Given the description of an element on the screen output the (x, y) to click on. 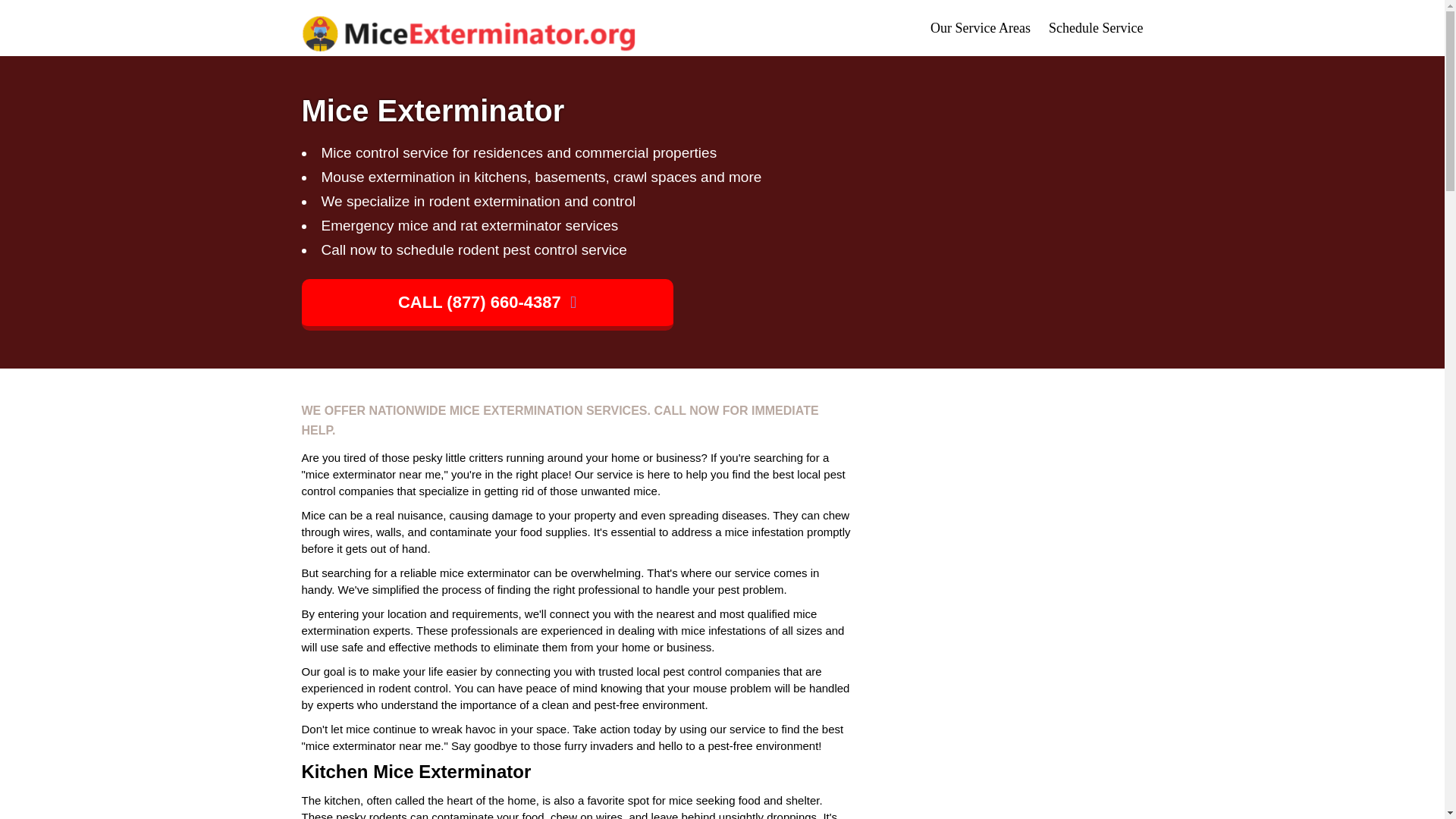
Service Areas (980, 28)
Our Service Areas (980, 28)
Schedule Service (1095, 28)
Schedule Mice or Rat Extermination (1095, 28)
